Given the description of an element on the screen output the (x, y) to click on. 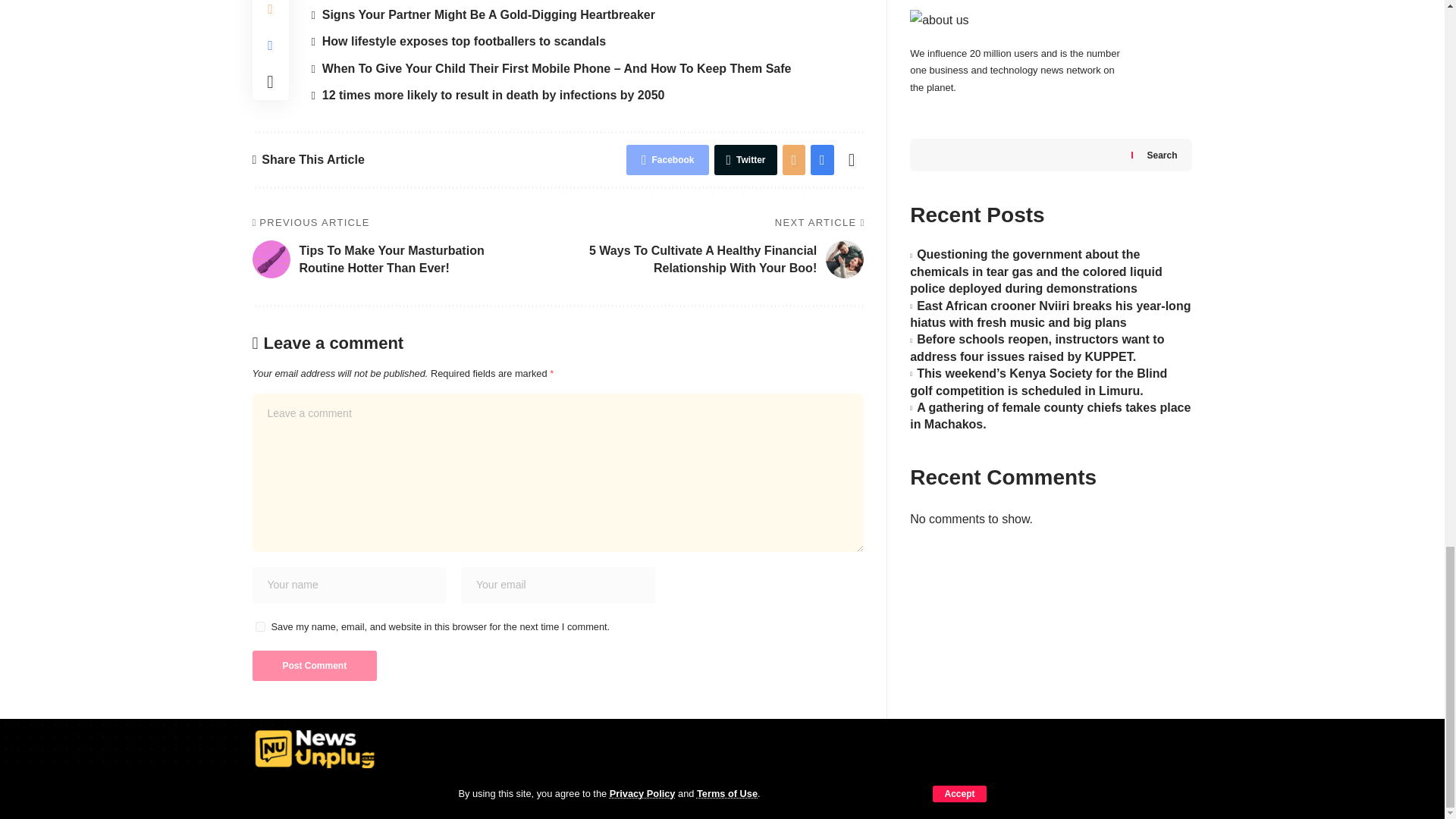
yes (259, 626)
Newsunplug Kenya (314, 749)
Post Comment (314, 665)
